Given the description of an element on the screen output the (x, y) to click on. 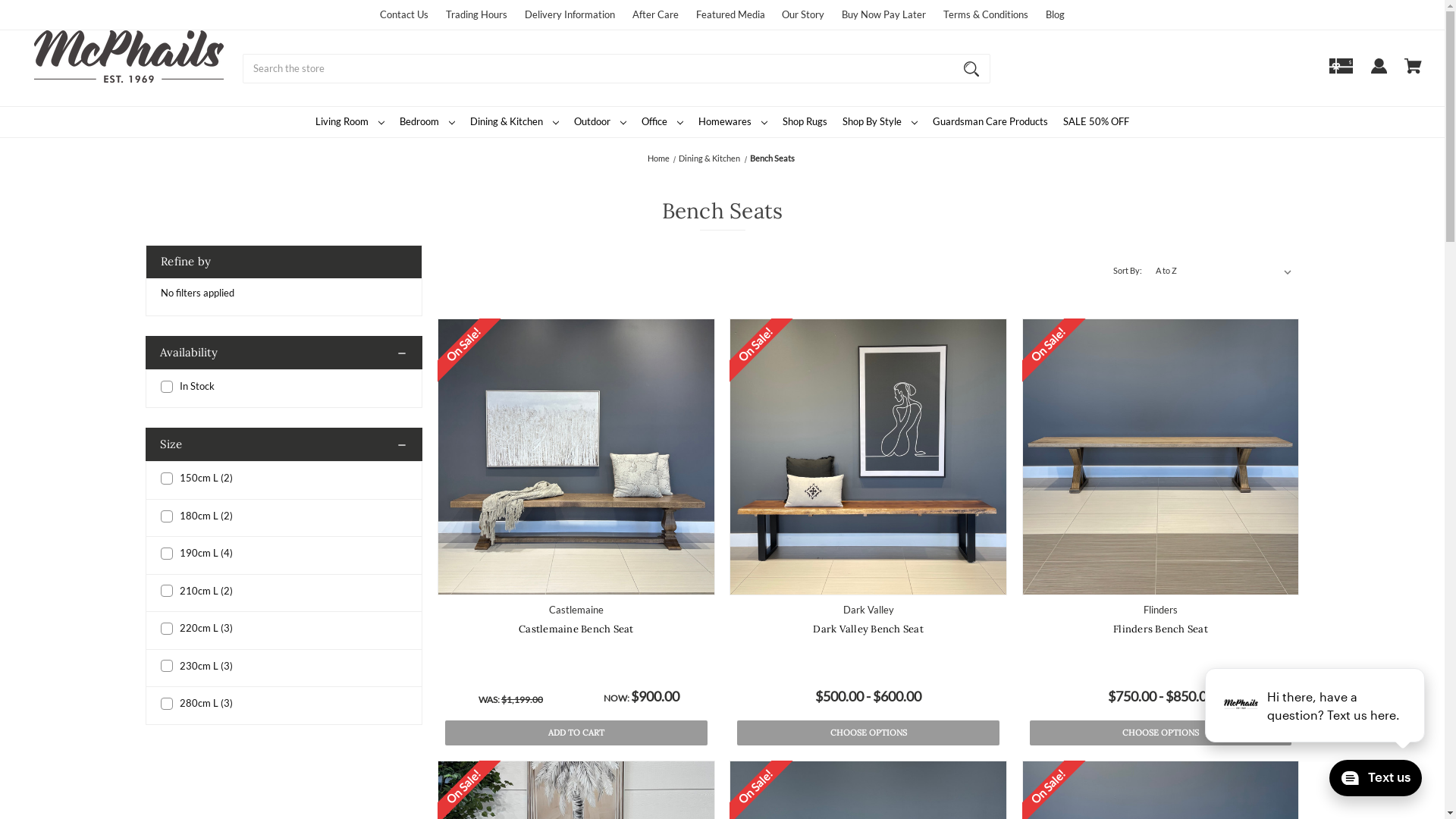
Guardsman Care Products Element type: text (990, 121)
Dining & Kitchen Element type: text (709, 158)
Castlemaine Bench Seat Element type: hover (575, 456)
Dark Valley Bench Seat Element type: hover (867, 456)
Contact Us Element type: text (404, 14)
Terms & Conditions Element type: text (985, 14)
Homewares Element type: text (732, 121)
220cm L (3) Element type: text (283, 628)
Buy Now Pay Later Element type: text (883, 14)
150cm L (2) Element type: text (283, 478)
In Stock Element type: text (283, 386)
Flinders Bench Seat Element type: text (1160, 629)
Bedroom Element type: text (427, 121)
GIFT CARD IMAGE LARGE SQUARE BLACK IMAGE WITH A BOW ONTOP Element type: text (1340, 72)
SALE 50% OFF Element type: text (1095, 121)
230cm L (3) Element type: text (283, 666)
Trading Hours Element type: text (476, 14)
280cm L (3) Element type: text (283, 703)
Shop By Style Element type: text (879, 121)
Castlemaine Bench Seat Element type: text (575, 629)
Office Element type: text (661, 121)
Living Room Element type: text (349, 121)
MAGNIFYING GLASS IMAGE LARGE RED CIRCLE WITH A BLACK BORDER Element type: text (971, 68)
Featured Media Element type: text (730, 14)
Bench Seats Element type: text (771, 158)
After Care Element type: text (655, 14)
Shop Rugs Element type: text (804, 121)
Dining & Kitchen Element type: text (514, 121)
Availability Element type: text (284, 352)
Flinders Bench Seat Element type: hover (1160, 456)
Outdoor Element type: text (599, 121)
190cm L (4) Element type: text (283, 553)
210cm L (2) Element type: text (283, 591)
ADD TO CART Element type: text (576, 732)
McPhail's Furniture Element type: hover (128, 56)
Home Element type: text (658, 158)
CHOOSE OPTIONS Element type: text (1160, 732)
180cm L (2) Element type: text (283, 516)
CHOOSE OPTIONS Element type: text (868, 732)
podium webchat widget prompt Element type: hover (1315, 705)
Delivery Information Element type: text (569, 14)
Blog Element type: text (1055, 14)
Dark Valley Bench Seat Element type: text (867, 629)
Size Element type: text (284, 444)
Our Story Element type: text (802, 14)
